Given the description of an element on the screen output the (x, y) to click on. 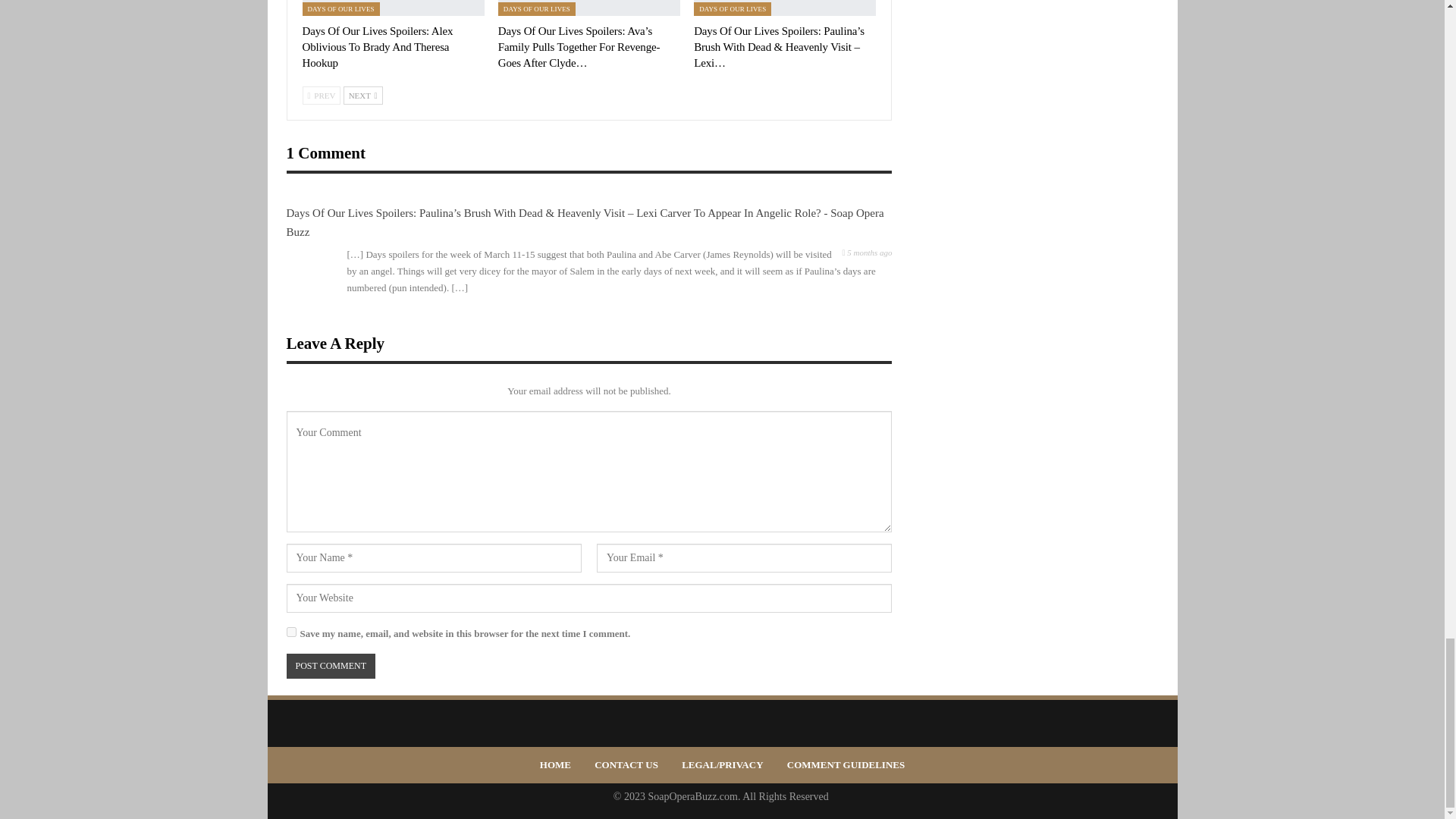
Post Comment (330, 665)
yes (291, 632)
